Given the description of an element on the screen output the (x, y) to click on. 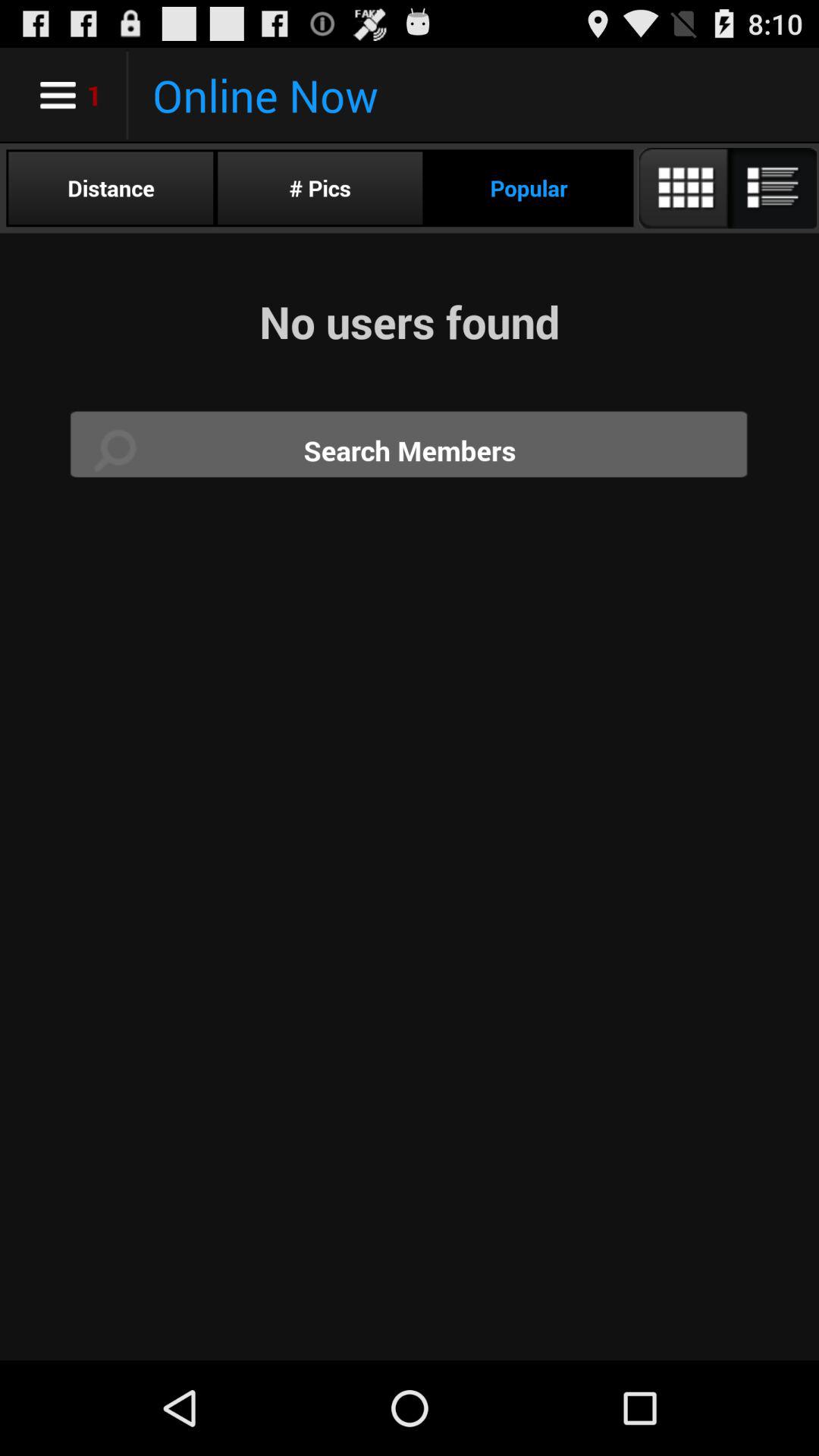
press radio button next to the distance (319, 187)
